Given the description of an element on the screen output the (x, y) to click on. 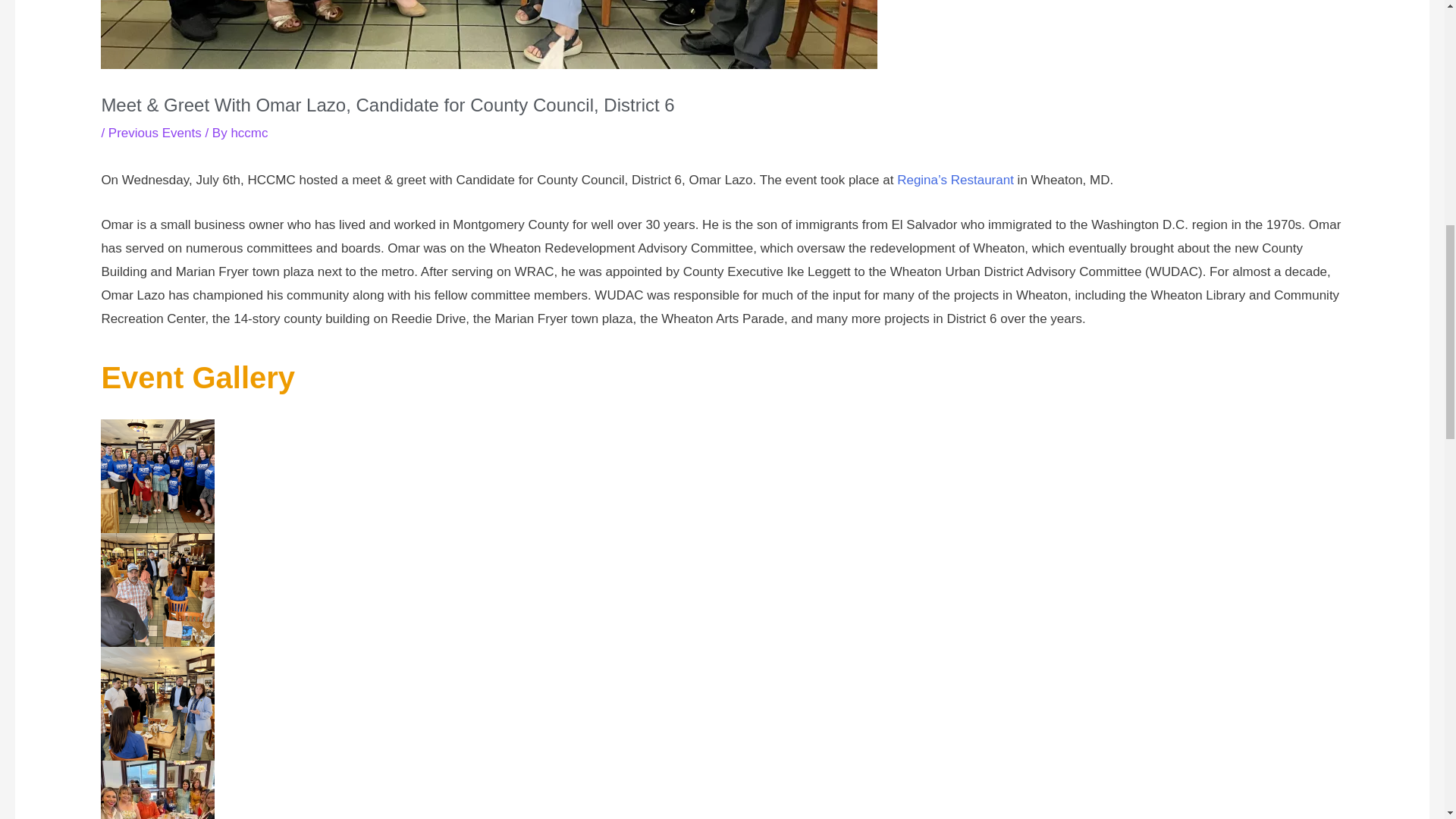
View all posts by hccmc (248, 133)
Previous Events (154, 133)
hccmc (248, 133)
